Given the description of an element on the screen output the (x, y) to click on. 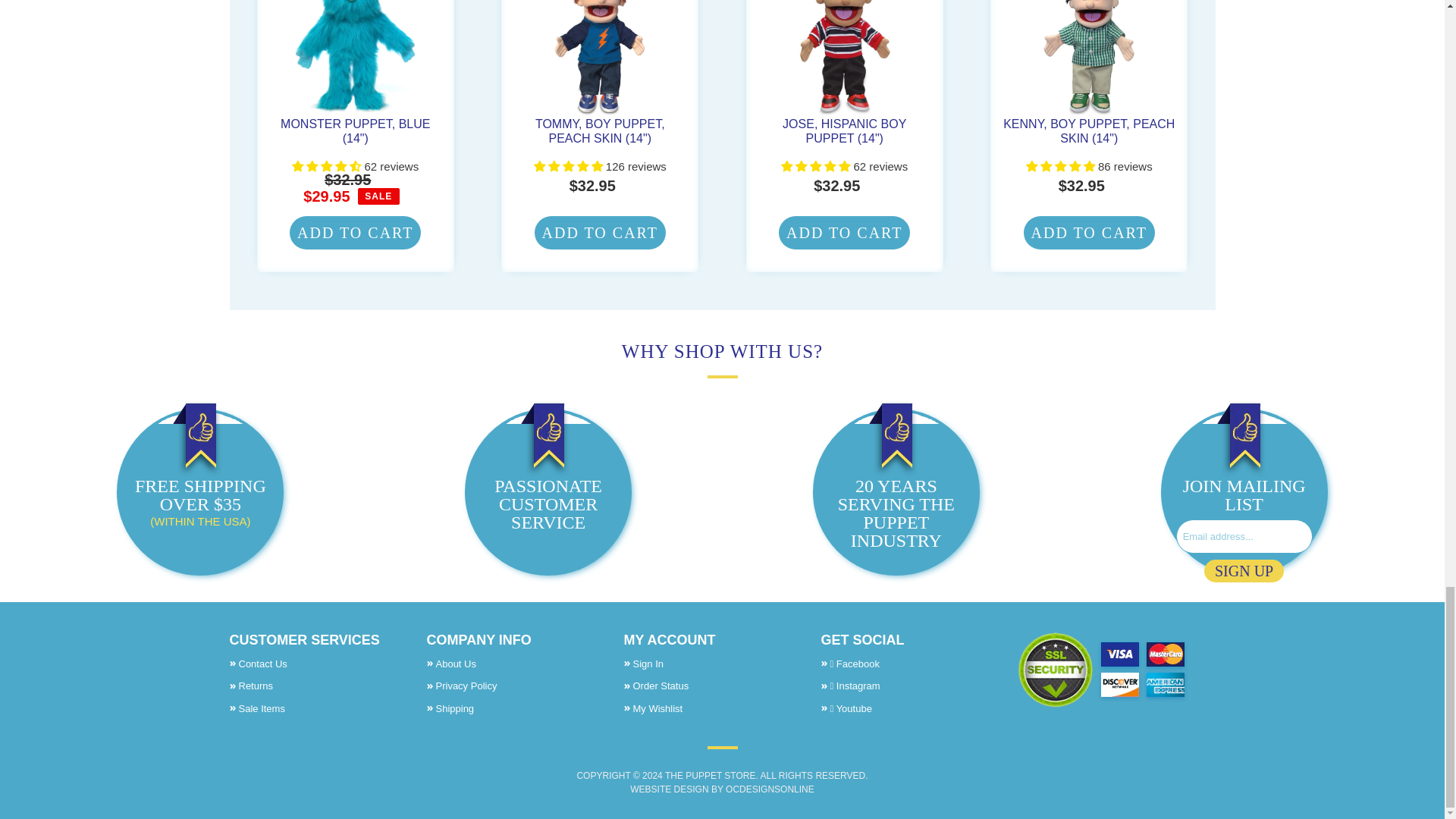
Add to cart (1088, 232)
Add to cart (844, 232)
Add to cart (599, 232)
Add to cart (354, 232)
Shopify Theme Development (769, 788)
sign up (1244, 570)
